Given the description of an element on the screen output the (x, y) to click on. 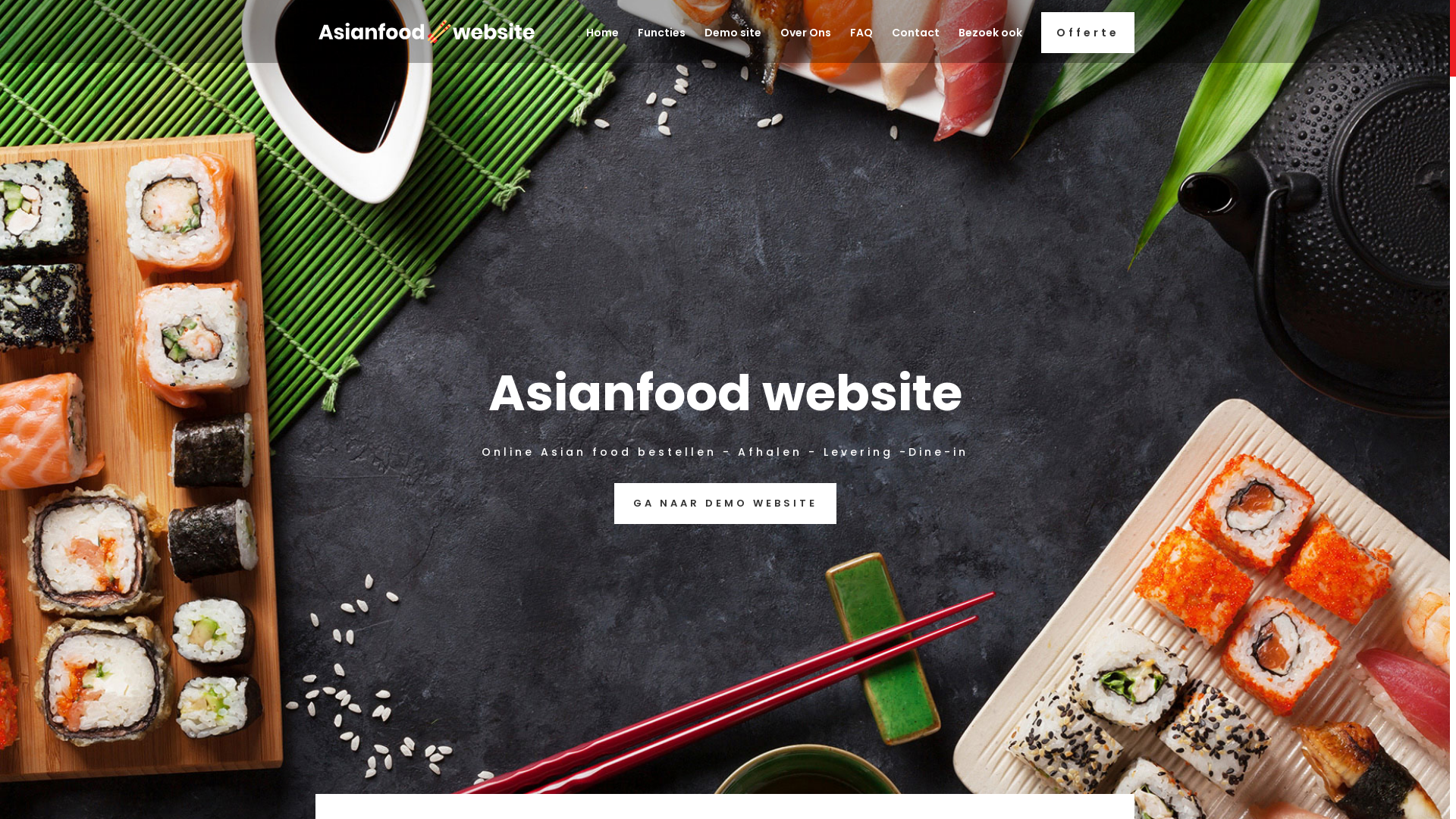
Demo site Element type: text (732, 44)
Over Ons Element type: text (805, 44)
Home Element type: text (602, 44)
Functies Element type: text (661, 44)
Bezoek ook Element type: text (990, 44)
Contact Element type: text (915, 44)
FAQ Element type: text (861, 44)
Offerte Element type: text (1087, 32)
GA NAAR DEMO WEBSITE Element type: text (725, 503)
